Given the description of an element on the screen output the (x, y) to click on. 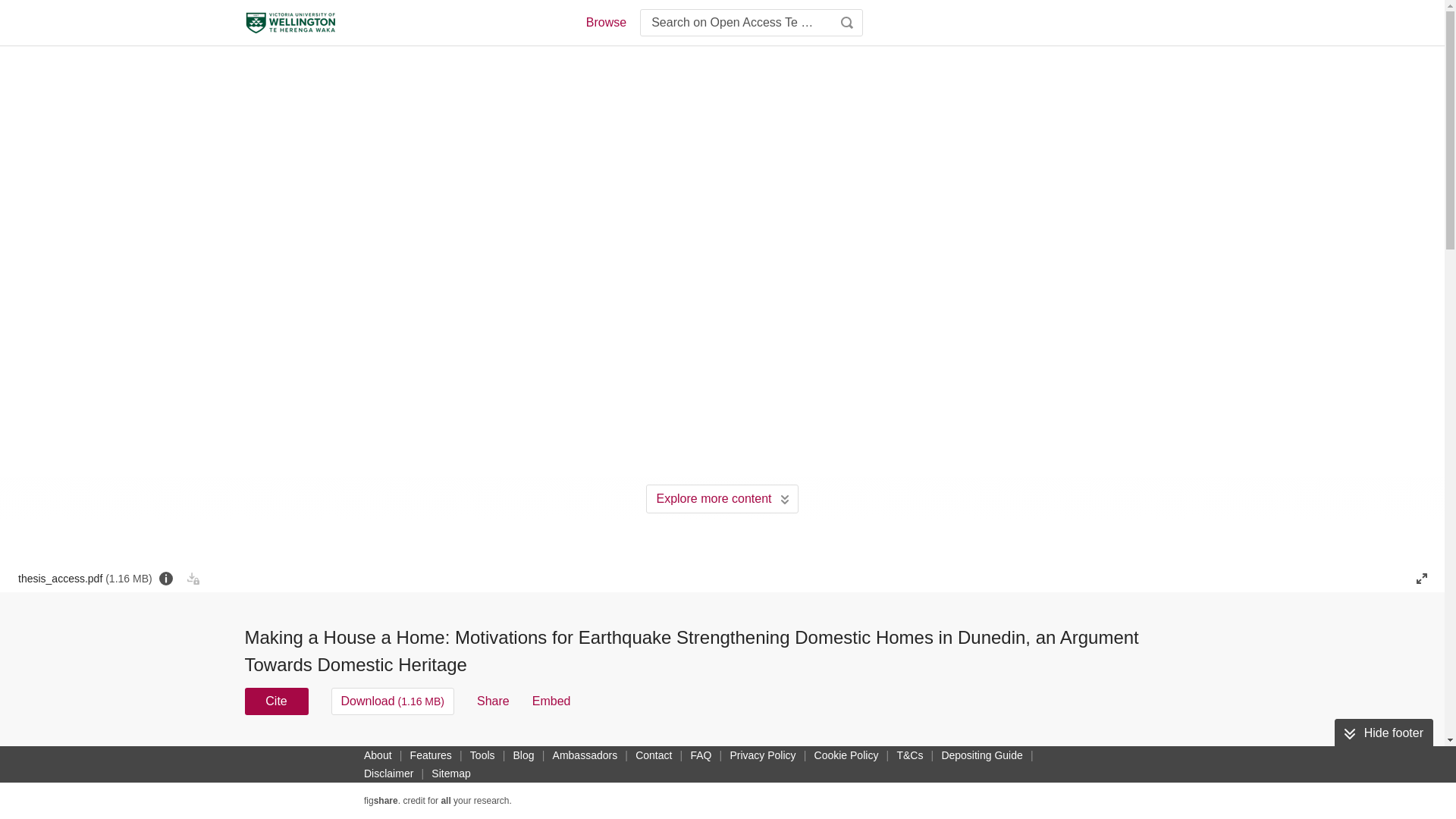
Explore more content (721, 498)
Version 2 (273, 750)
Cite (275, 700)
Hide footer (1383, 733)
Embed (551, 700)
Browse (605, 22)
USAGE METRICS (976, 755)
Share (493, 700)
